Given the description of an element on the screen output the (x, y) to click on. 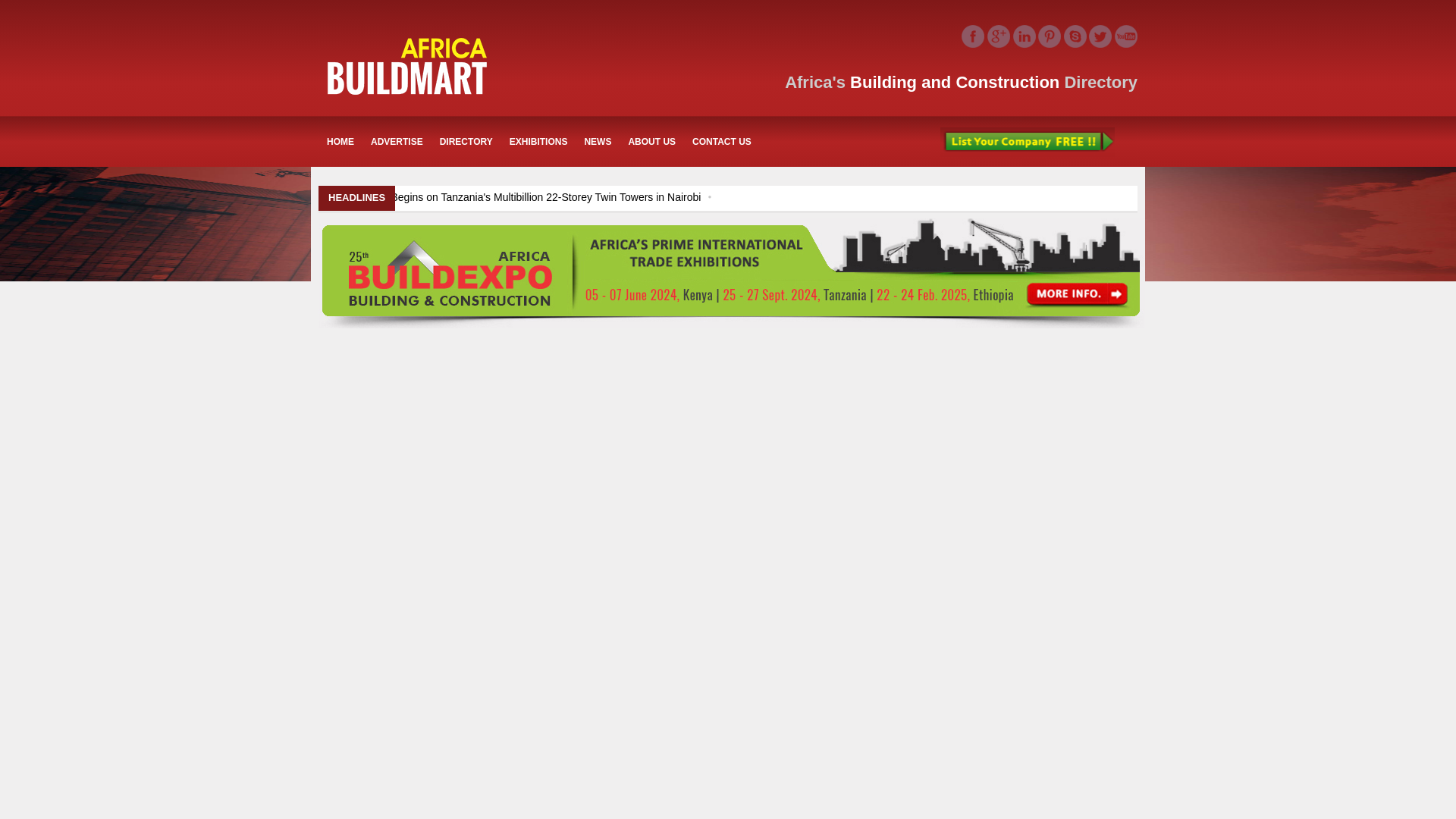
ADVERTISE (396, 141)
CONTACT US (722, 141)
EXHIBITIONS (538, 141)
HOME (340, 141)
NEWS (597, 141)
ABOUT US (652, 141)
List Your Company Free (1027, 142)
DIRECTORY (465, 141)
